Given the description of an element on the screen output the (x, y) to click on. 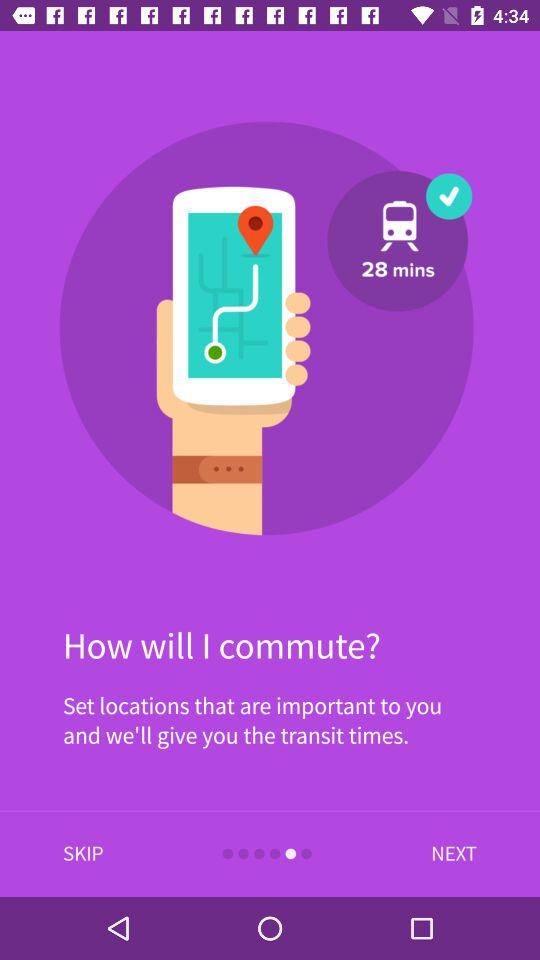
open item at the bottom left corner (83, 853)
